Given the description of an element on the screen output the (x, y) to click on. 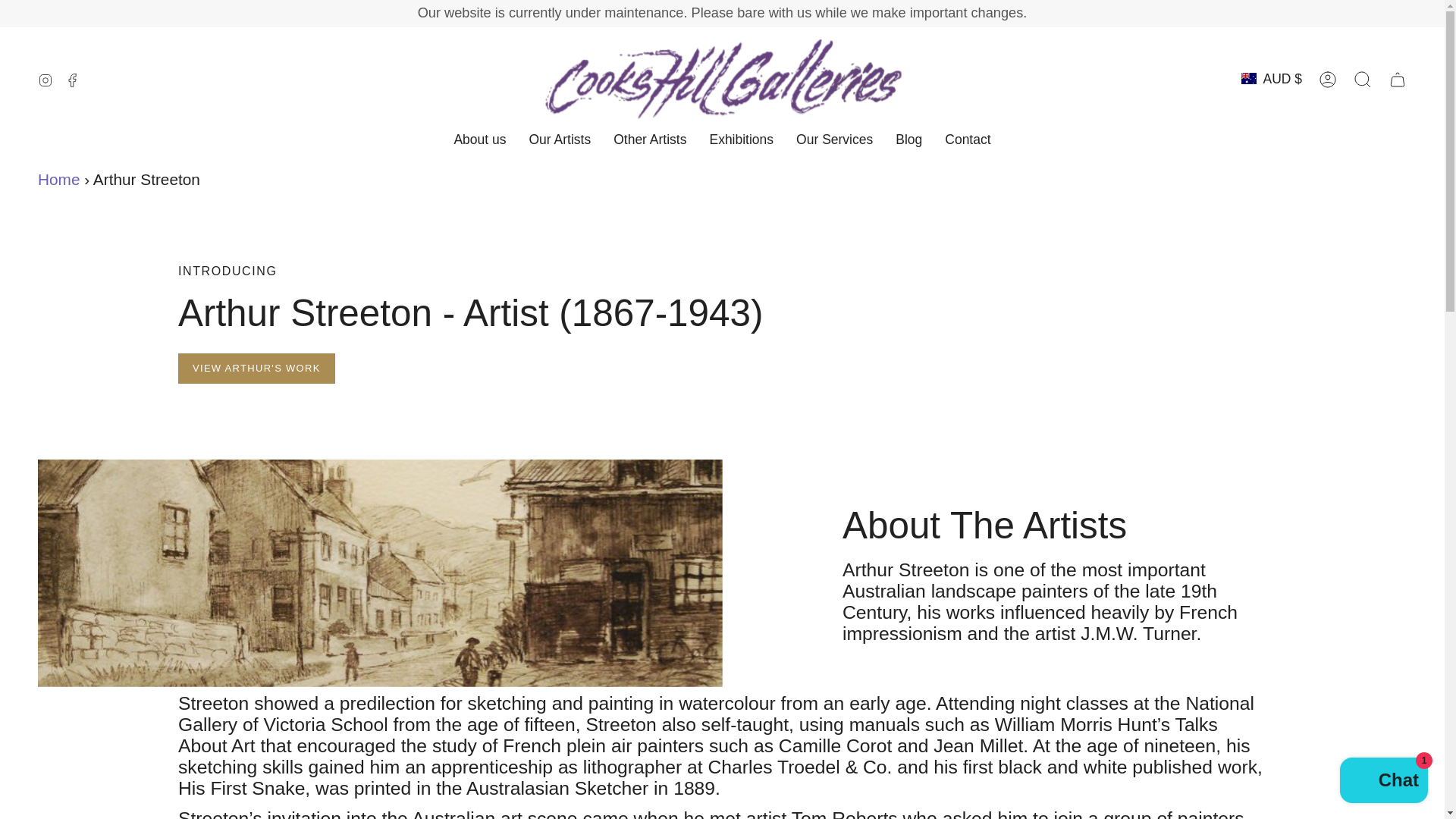
Shopify online store chat (1383, 781)
My Account (1327, 79)
Search (1362, 79)
Home (58, 179)
Cart (1397, 79)
